Given the description of an element on the screen output the (x, y) to click on. 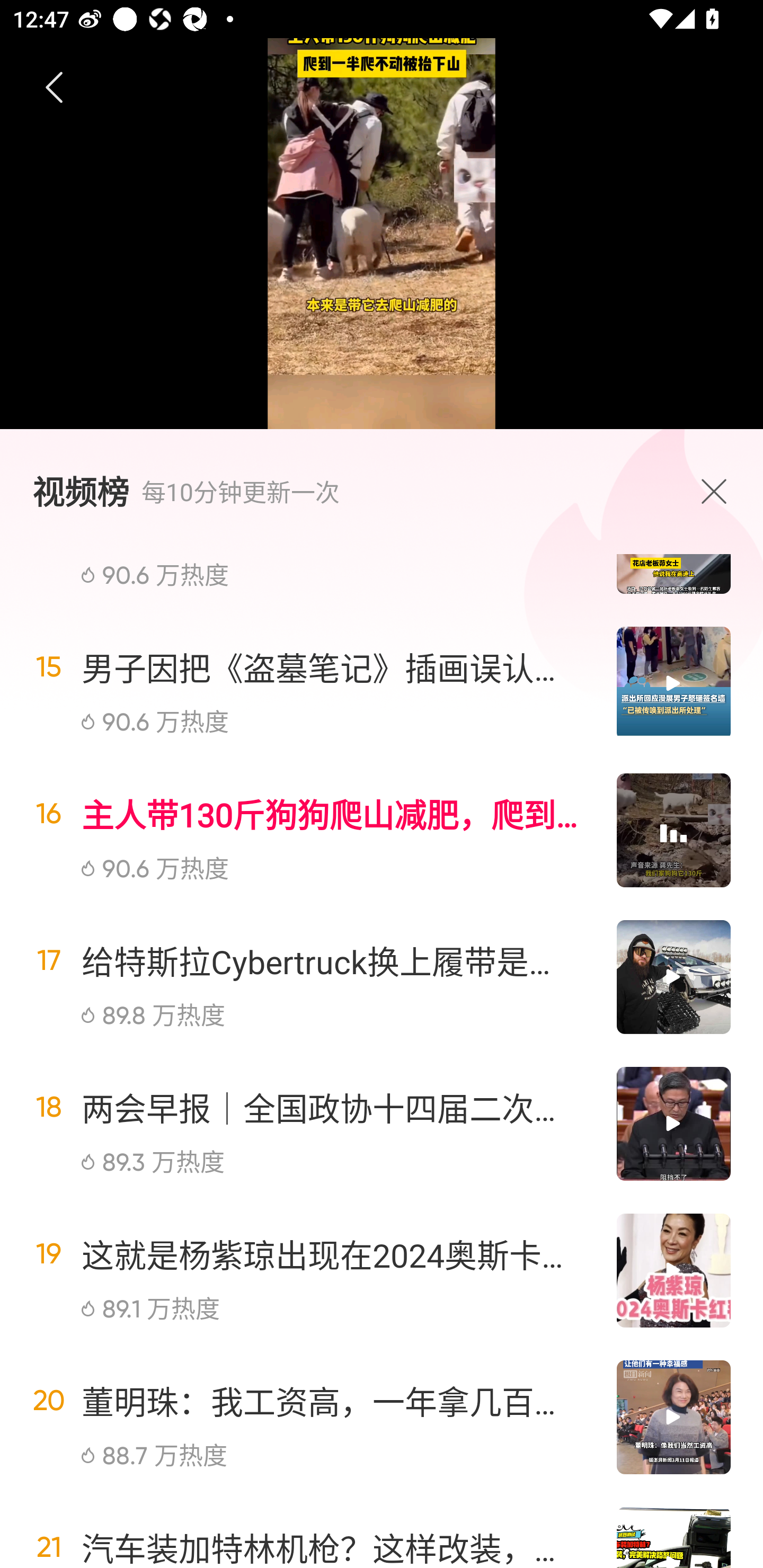
 返回 (54, 87)
 (718, 491)
16 主人带130斤狗狗爬山减肥，爬到一半爬不动被抬下山 90.6 万热度 (381, 830)
17 给特斯拉Cybertruck换上履带是什么体验？简直不要太疯狂 89.8 万热度 (381, 976)
18 两会早报｜全国政协十四届二次会议今日闭幕！最后一场“委员通道”说什么? 89.3 万热度 (381, 1123)
19 这就是杨紫琼出现在2024奥斯卡红毯的原因！好温暖好感动好成功 89.1 万热度 (381, 1270)
21 汽车装加特林机枪？这样改装，完美解决路怒问题 (381, 1529)
